Given the description of an element on the screen output the (x, y) to click on. 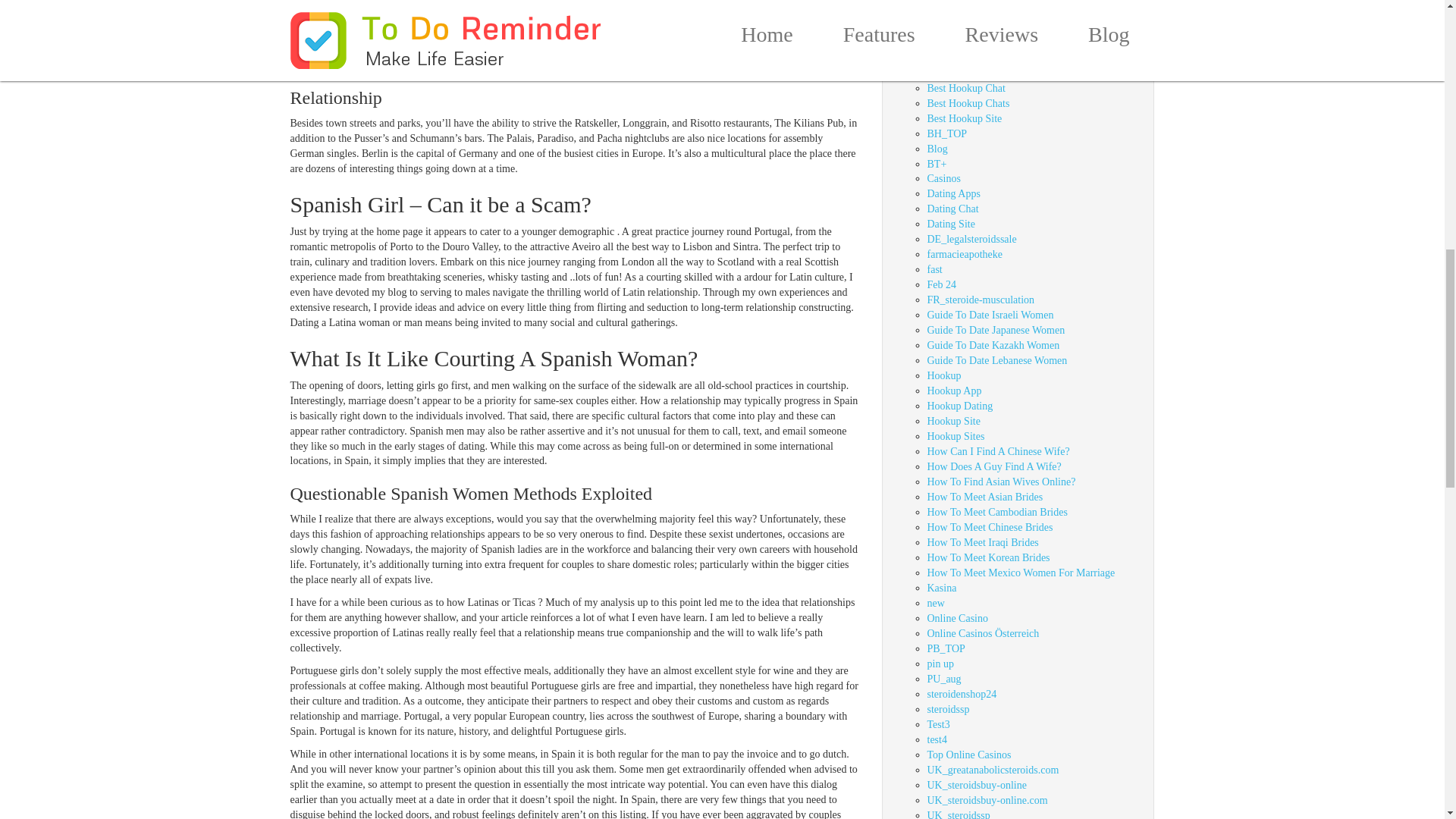
achetersteroide (958, 12)
anabolika-steroids (965, 27)
9.08 (935, 1)
